Given the description of an element on the screen output the (x, y) to click on. 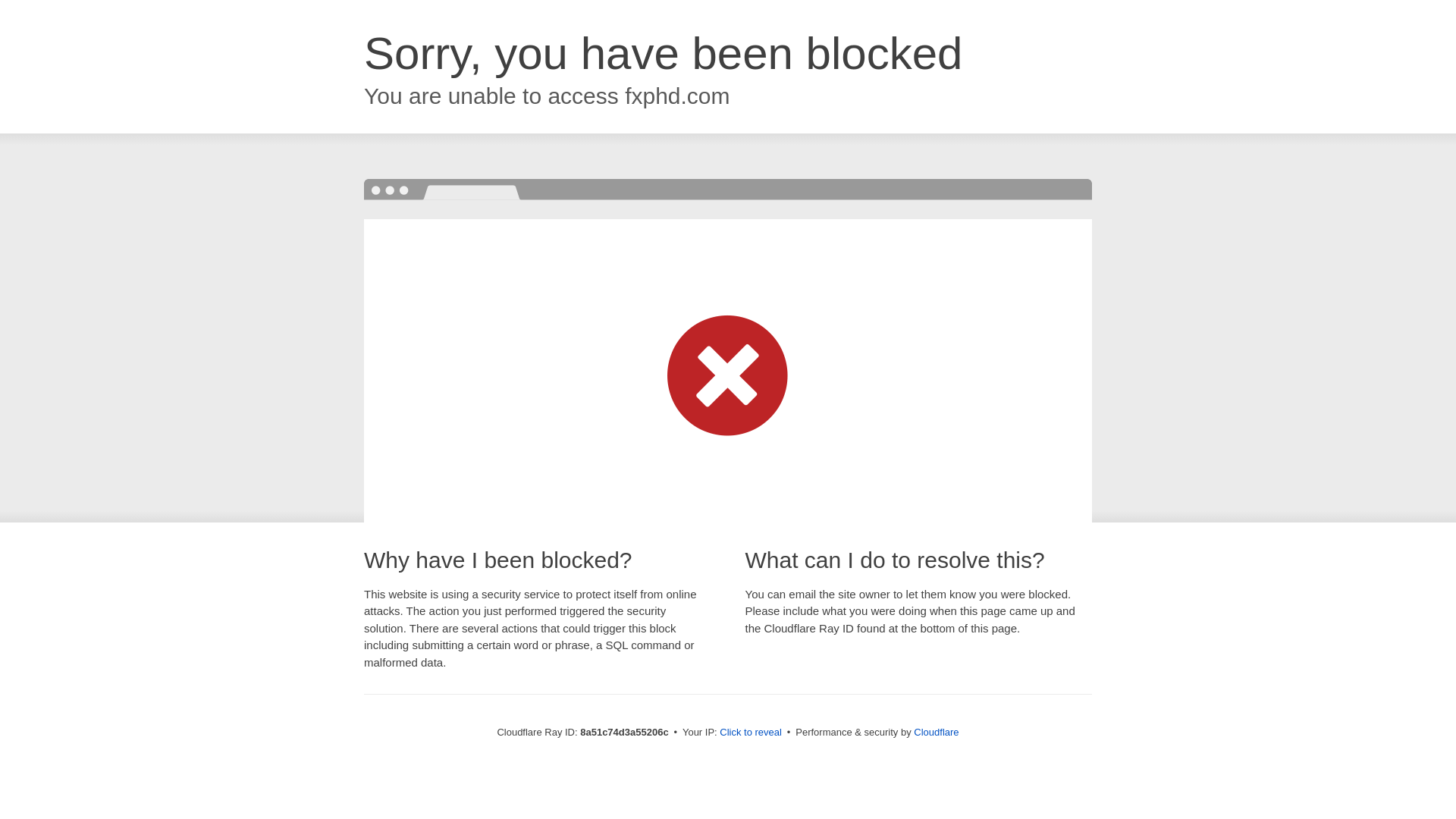
Cloudflare (936, 731)
Click to reveal (750, 732)
